Given the description of an element on the screen output the (x, y) to click on. 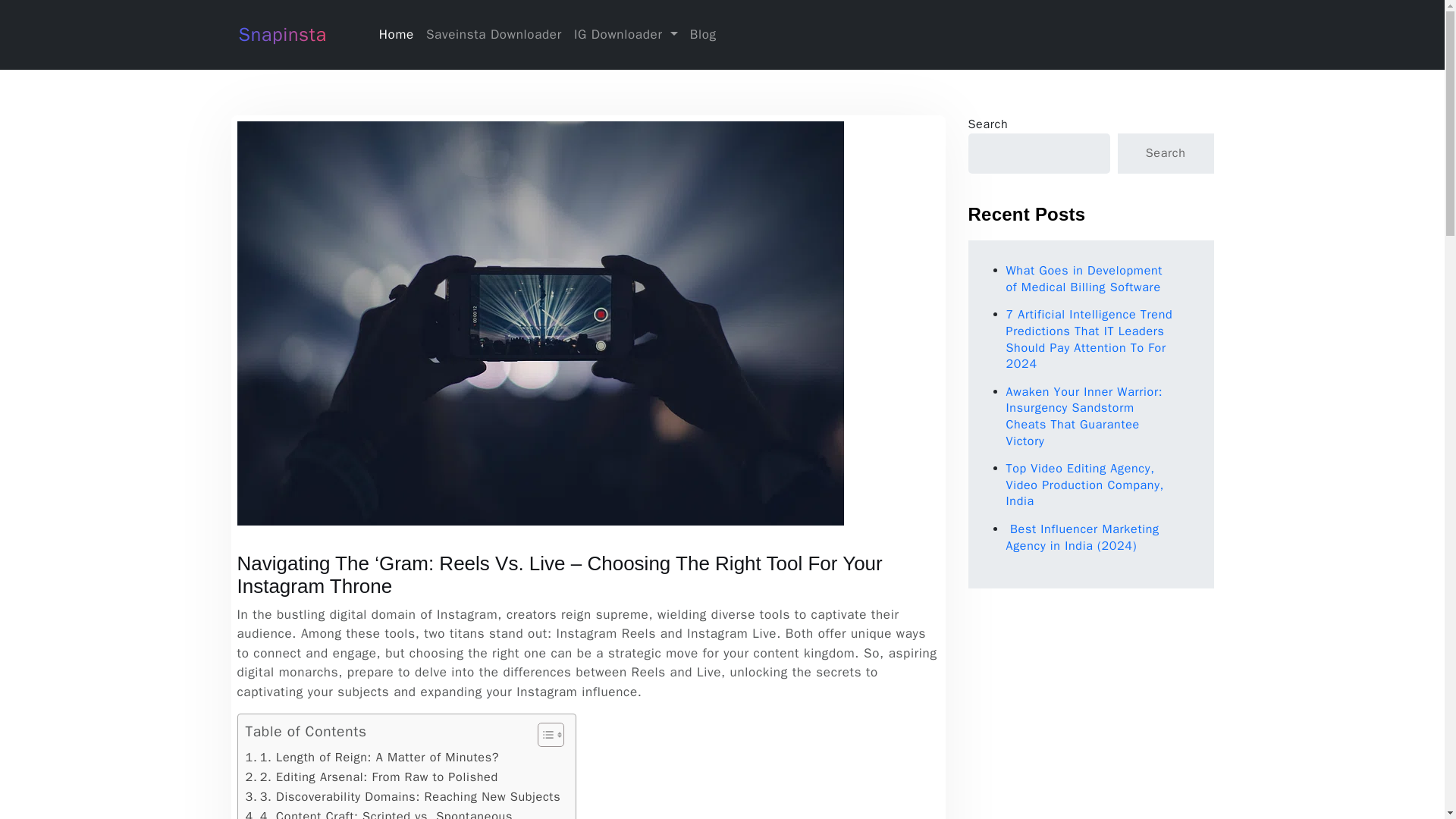
Blog (703, 34)
Saveinsta Downloader (493, 34)
2. Editing Arsenal: From Raw to Polished (371, 777)
Top Video Editing Agency, Video Production Company, India (1084, 484)
Home (396, 34)
2. Editing Arsenal: From Raw to Polished (371, 777)
Snapinsta (281, 34)
3. Discoverability Domains: Reaching New Subjects (403, 796)
